Given the description of an element on the screen output the (x, y) to click on. 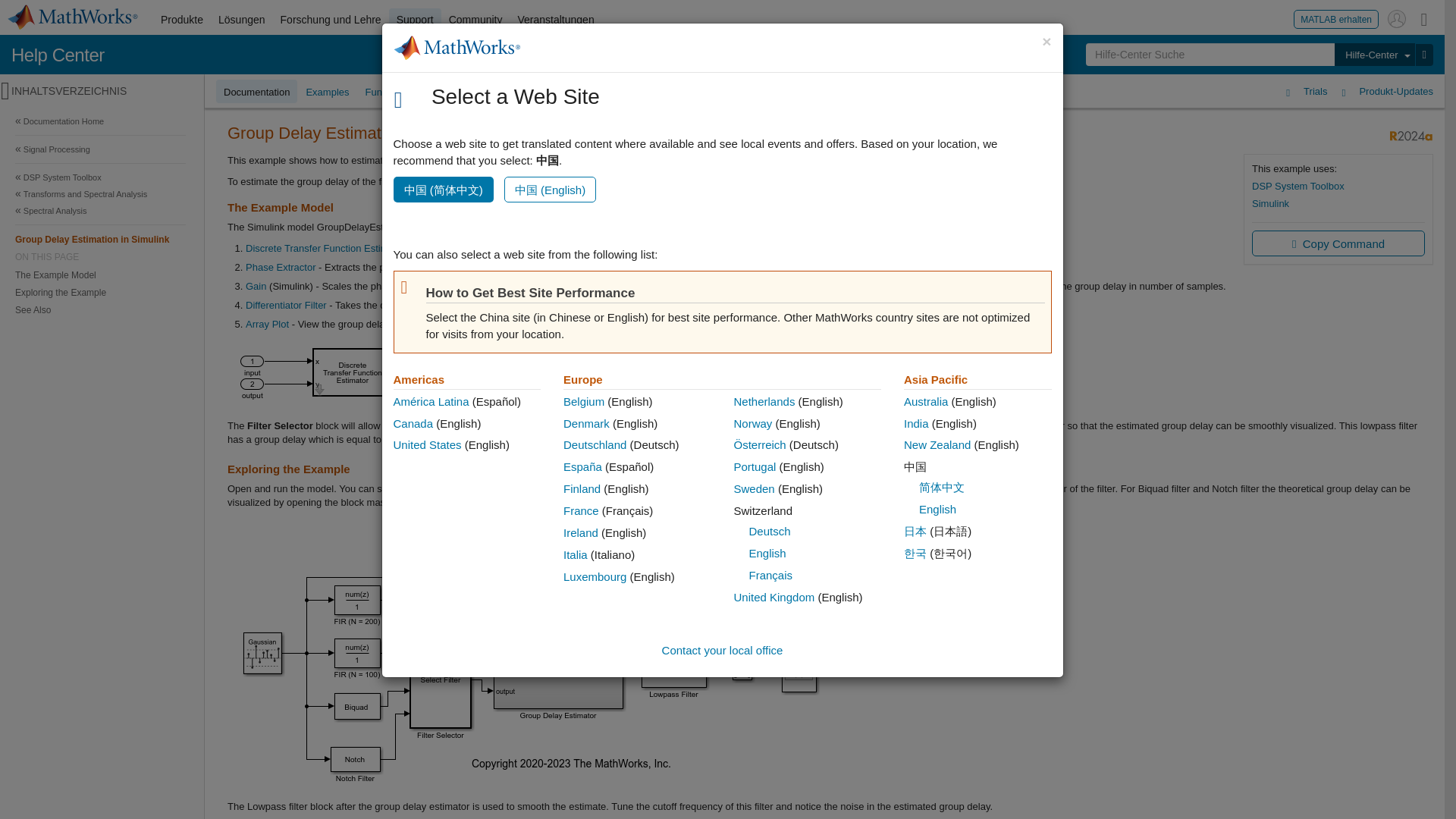
Veranstaltungen (555, 19)
Community (476, 19)
MATLAB erhalten (1336, 18)
Matrix Menu (1423, 18)
Melden Sie sich bei Ihrem MathWorks Konto an (1396, 18)
Produkte (181, 19)
Group Delay Estimation in Simulink (100, 239)
Forschung und Lehre (330, 19)
Support (414, 19)
ON THIS PAGE (100, 256)
